Given the description of an element on the screen output the (x, y) to click on. 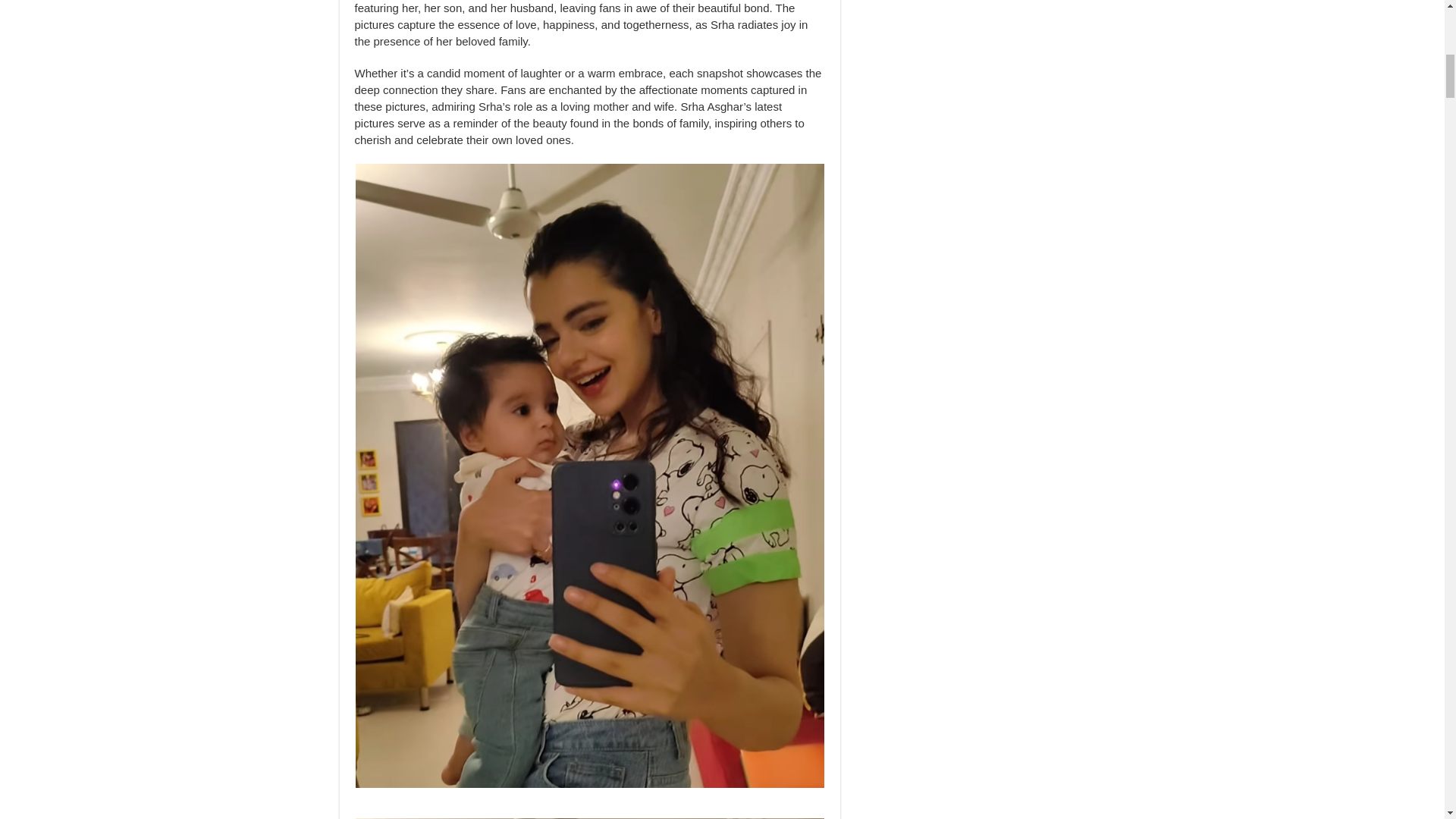
Scroll To Top (1421, 60)
